Given the description of an element on the screen output the (x, y) to click on. 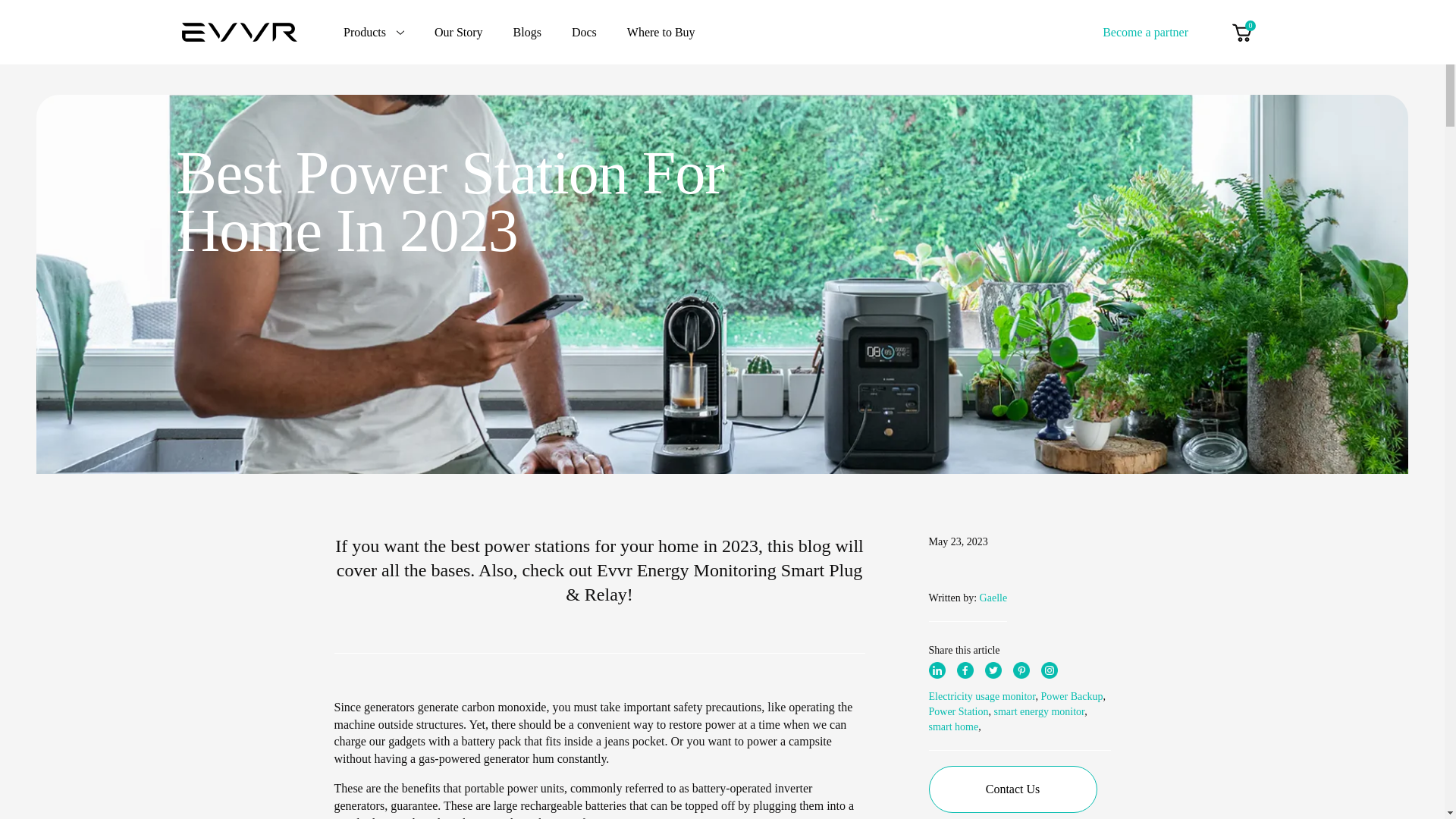
Docs (584, 31)
Where to Buy (661, 31)
0 (1240, 31)
Become a partner (1144, 31)
Blogs (527, 31)
Our Story (458, 31)
Products (373, 31)
